Given the description of an element on the screen output the (x, y) to click on. 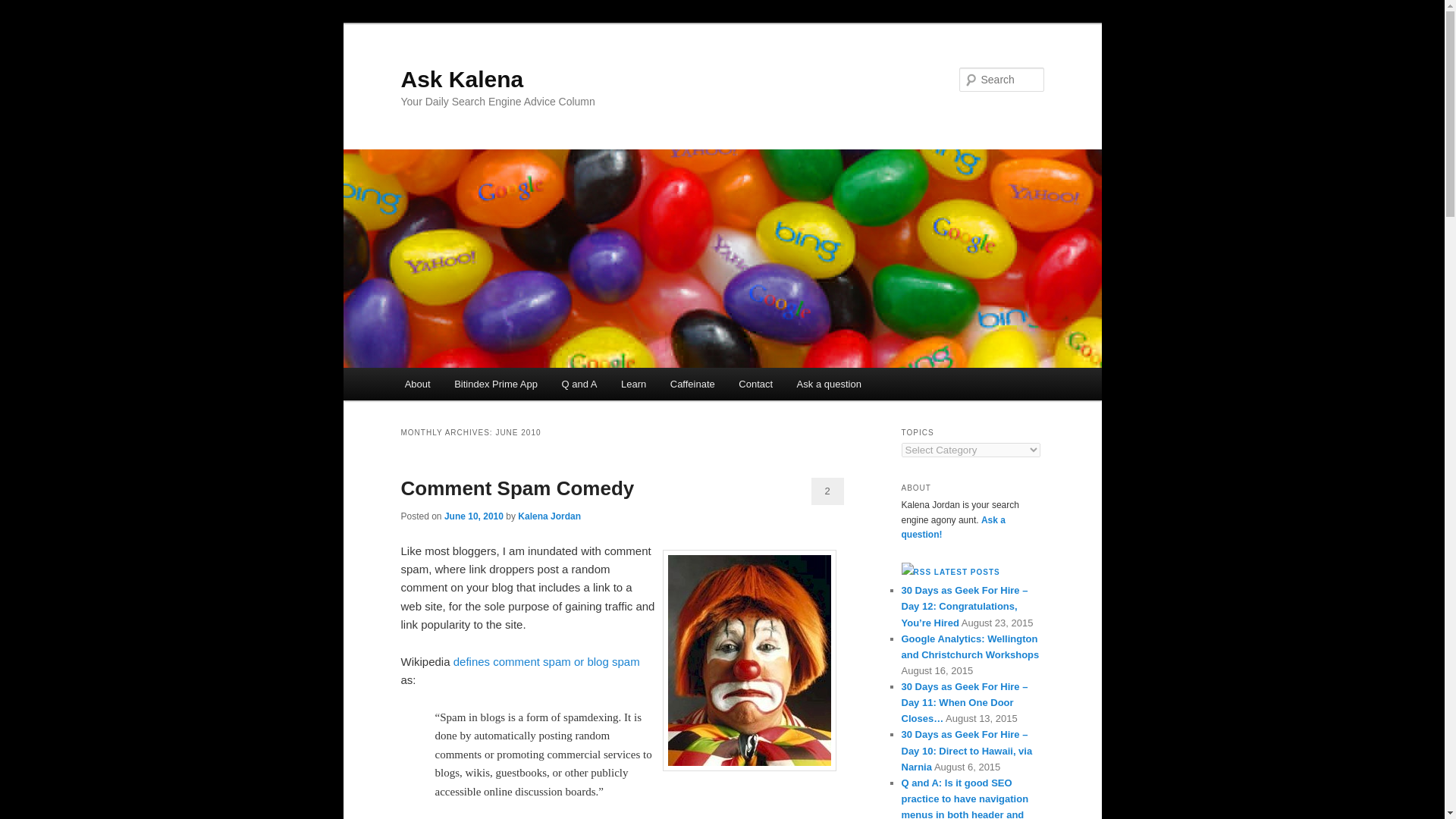
Comment Spam Comedy (516, 487)
Kalena Jordan (549, 516)
2:27 pm (473, 516)
Caffeinate (692, 383)
2 (827, 491)
About (417, 383)
Contact (755, 383)
June 10, 2010 (473, 516)
defines comment spam or blog spam (546, 661)
Ask a question (828, 383)
Q and A (579, 383)
View all posts by Kalena Jordan (549, 516)
Bitindex Prime App (495, 383)
Ask Kalena (461, 78)
